Given the description of an element on the screen output the (x, y) to click on. 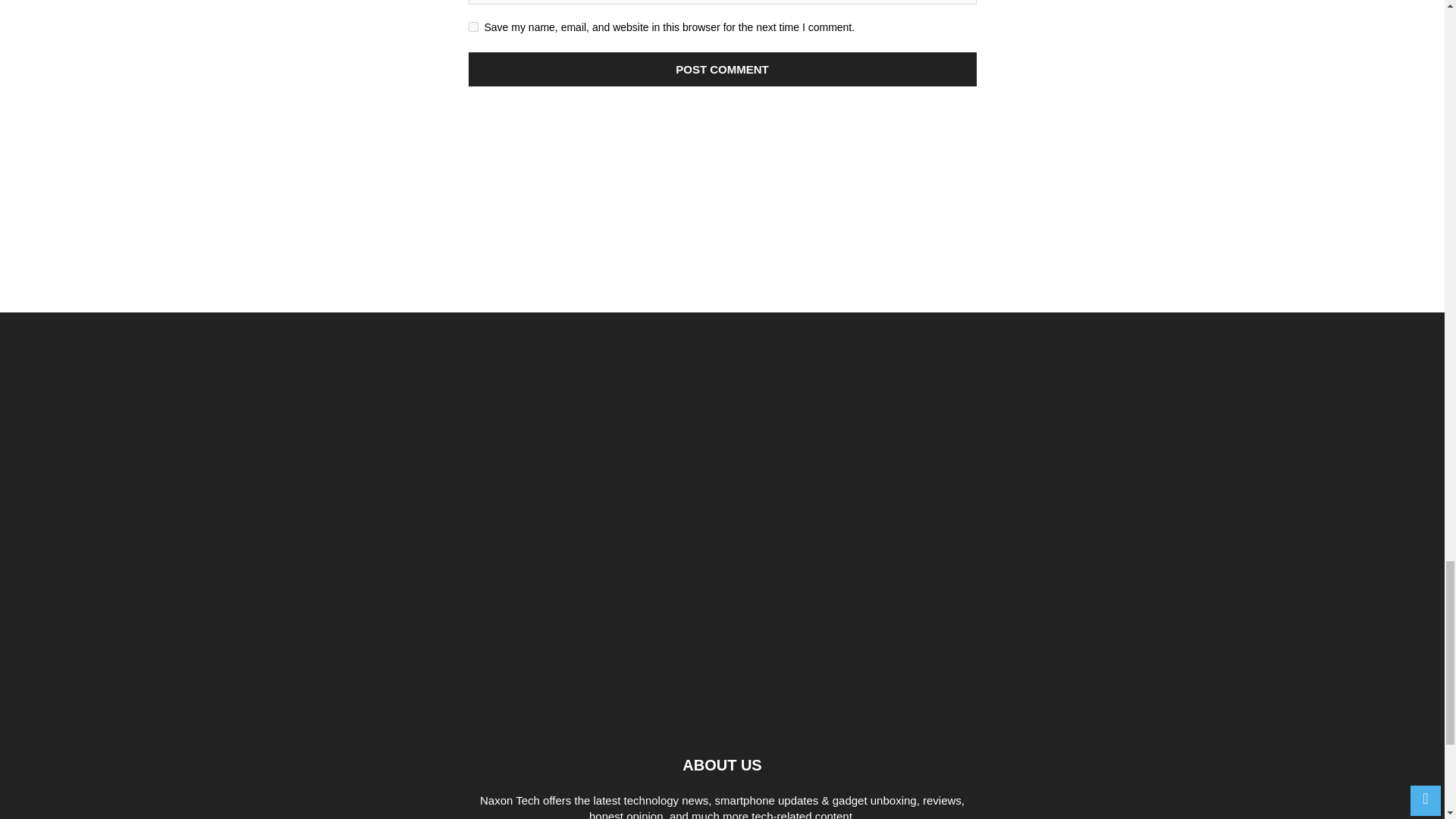
Post Comment (722, 69)
yes (473, 26)
Post Comment (722, 69)
